Given the description of an element on the screen output the (x, y) to click on. 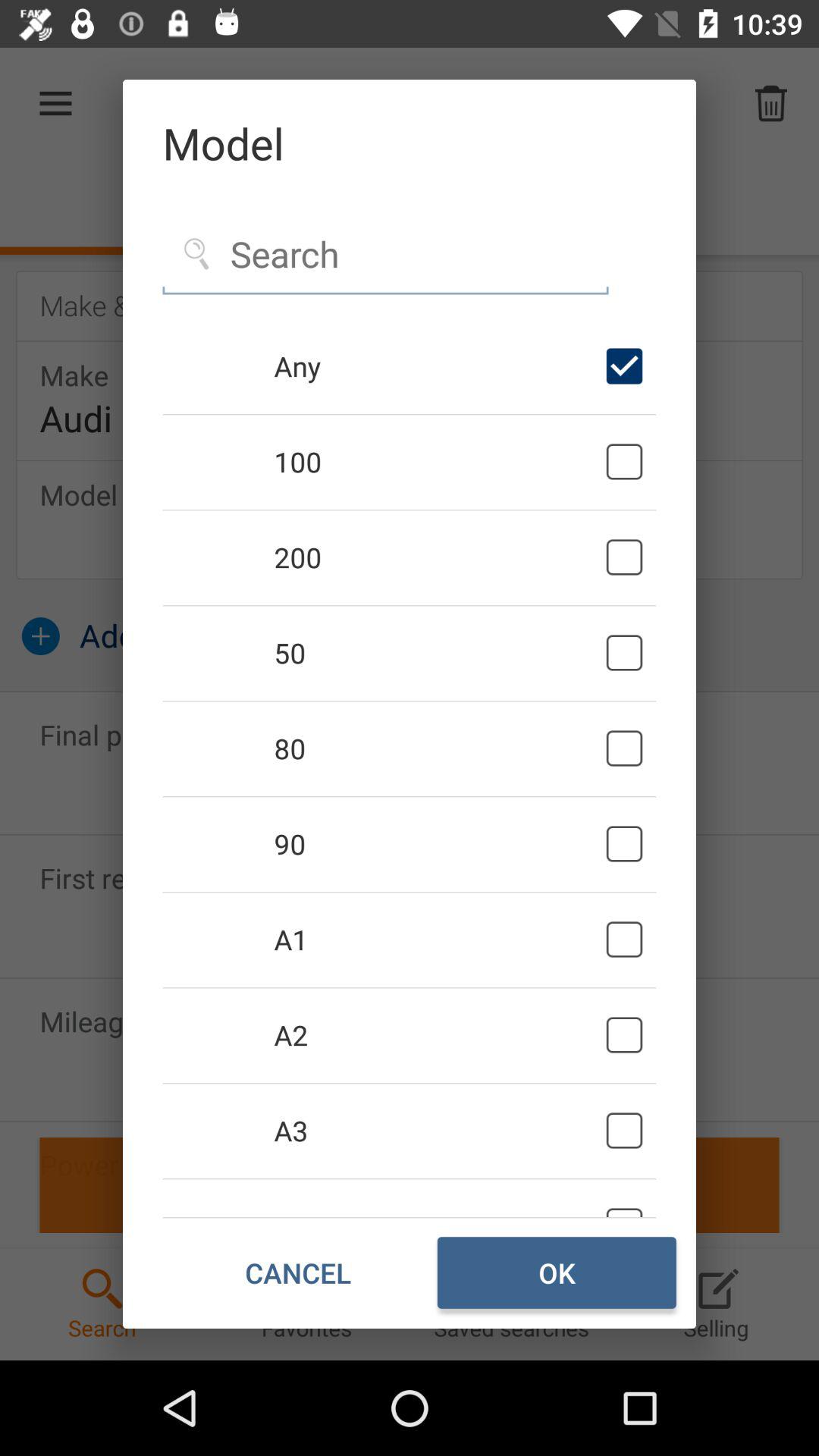
jump to the 200 icon (437, 557)
